Given the description of an element on the screen output the (x, y) to click on. 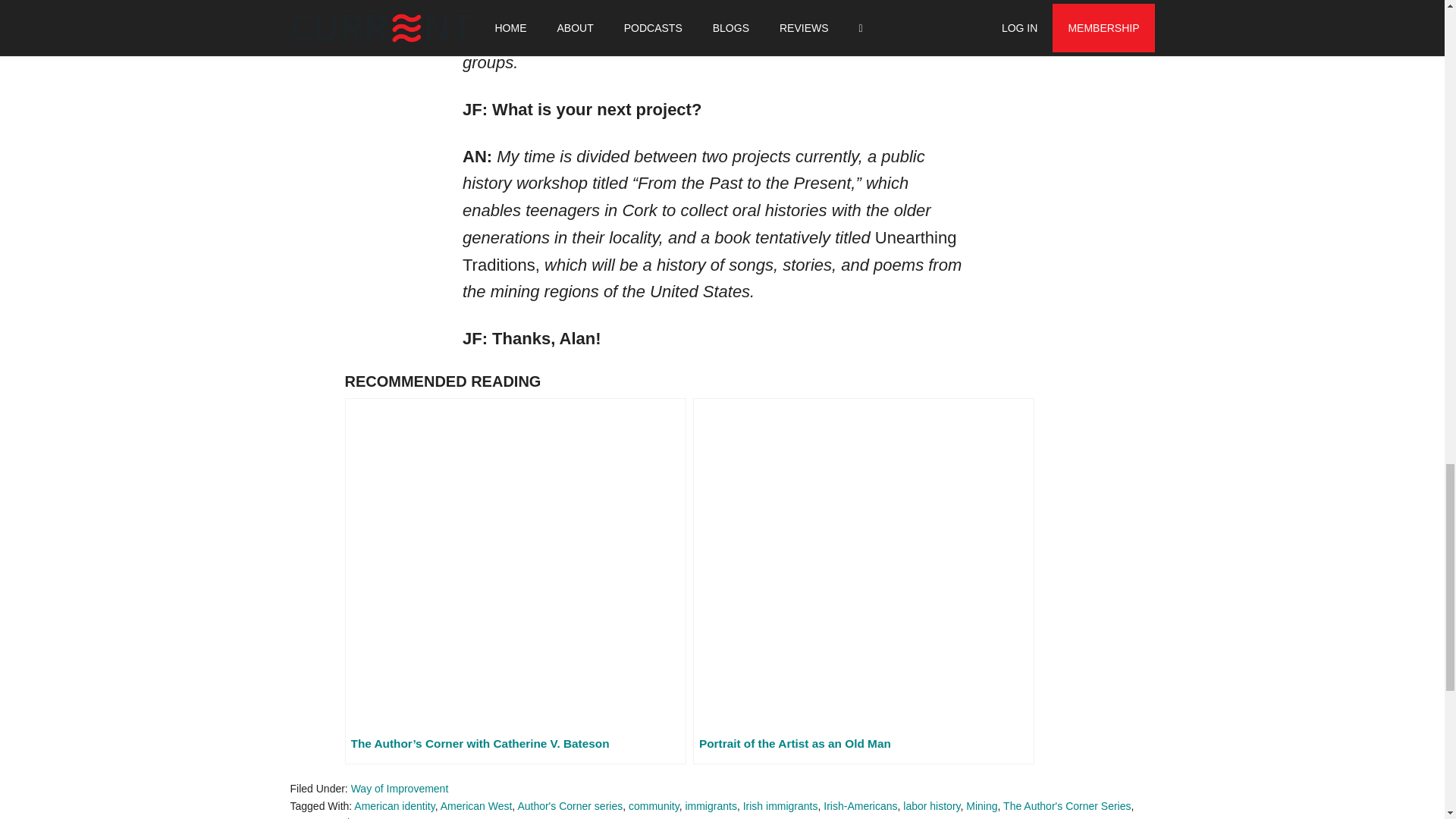
Portrait of the Artist as an Old Man (863, 581)
Author's Corner series (569, 806)
American identity (393, 806)
community (653, 806)
Irish-Americans (860, 806)
labor history (930, 806)
immigrants (710, 806)
Mining (981, 806)
Way of Improvement (399, 788)
Portrait of the Artist as an Old Man (863, 581)
Irish immigrants (780, 806)
American West (476, 806)
